Given the description of an element on the screen output the (x, y) to click on. 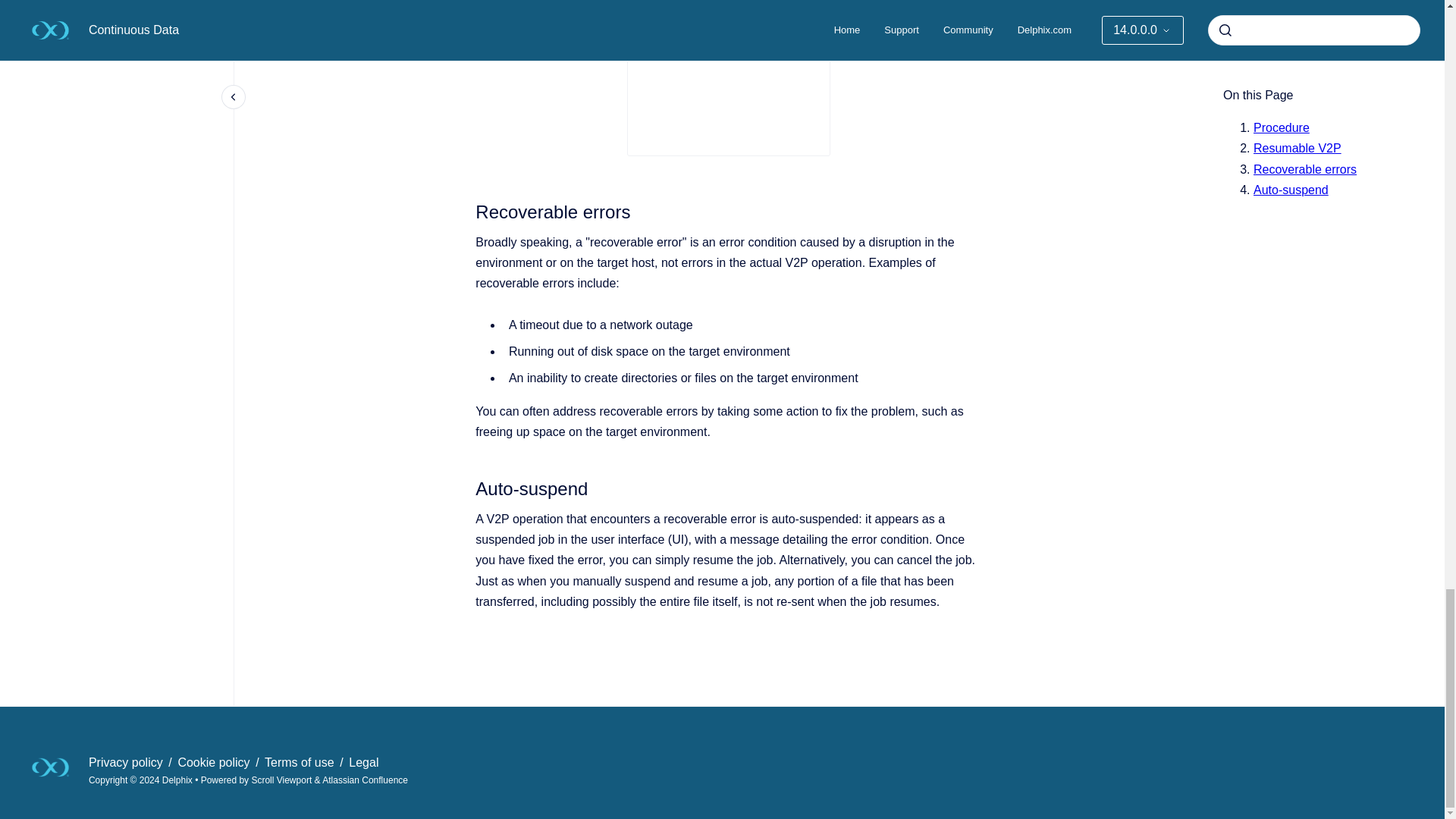
Scroll Viewport (282, 779)
Cookie policy (215, 762)
Terms of use (300, 762)
Legal (363, 762)
Privacy policy (126, 762)
Atlassian Confluence (364, 779)
